Given the description of an element on the screen output the (x, y) to click on. 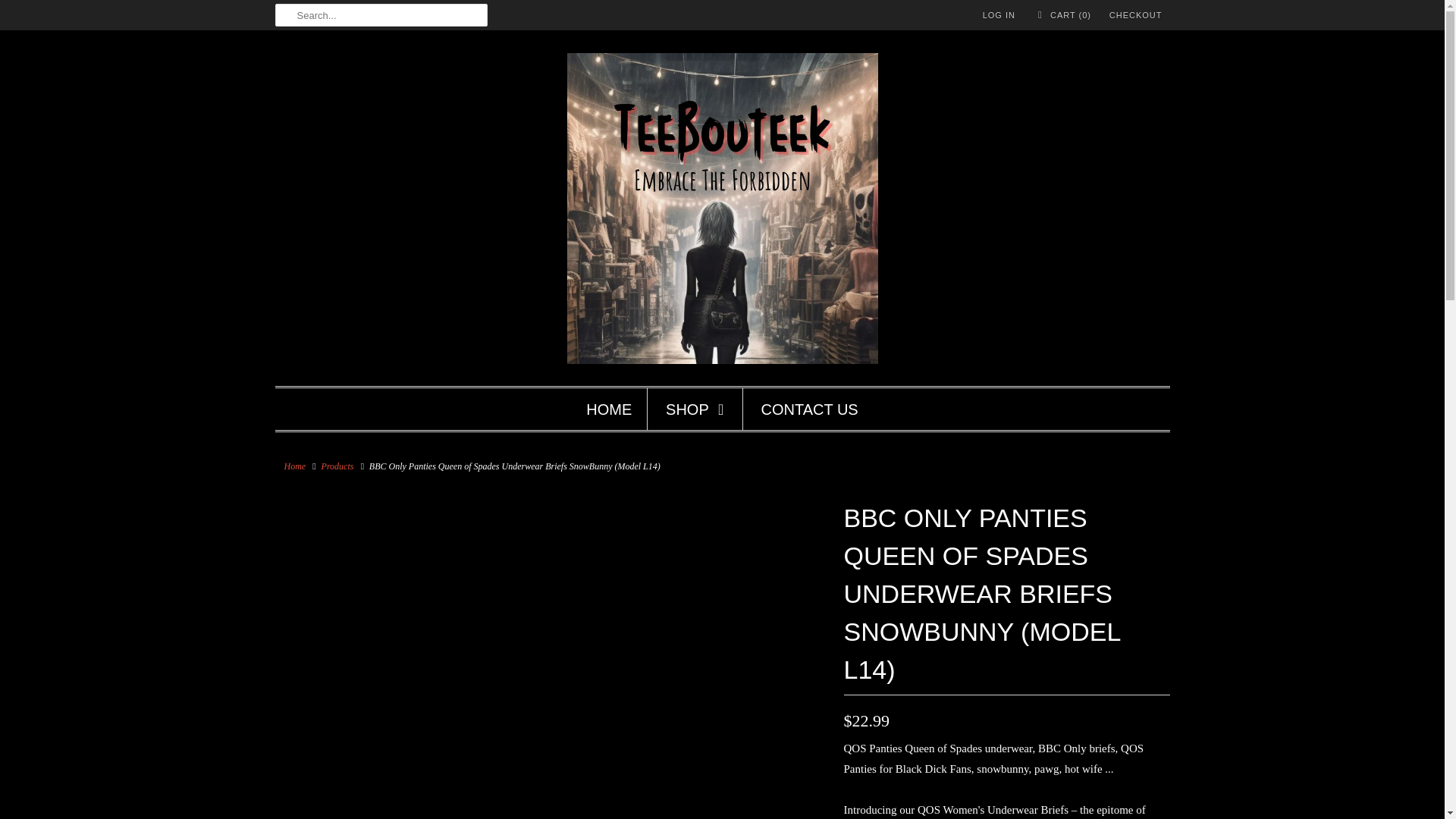
Home (294, 466)
CONTACT US (810, 409)
CHECKOUT (1135, 15)
TeeBouteek (294, 466)
Products (337, 466)
Products (337, 466)
HOME (608, 409)
LOG IN (998, 15)
SHOP (695, 409)
TeeBouteek (722, 212)
